Given the description of an element on the screen output the (x, y) to click on. 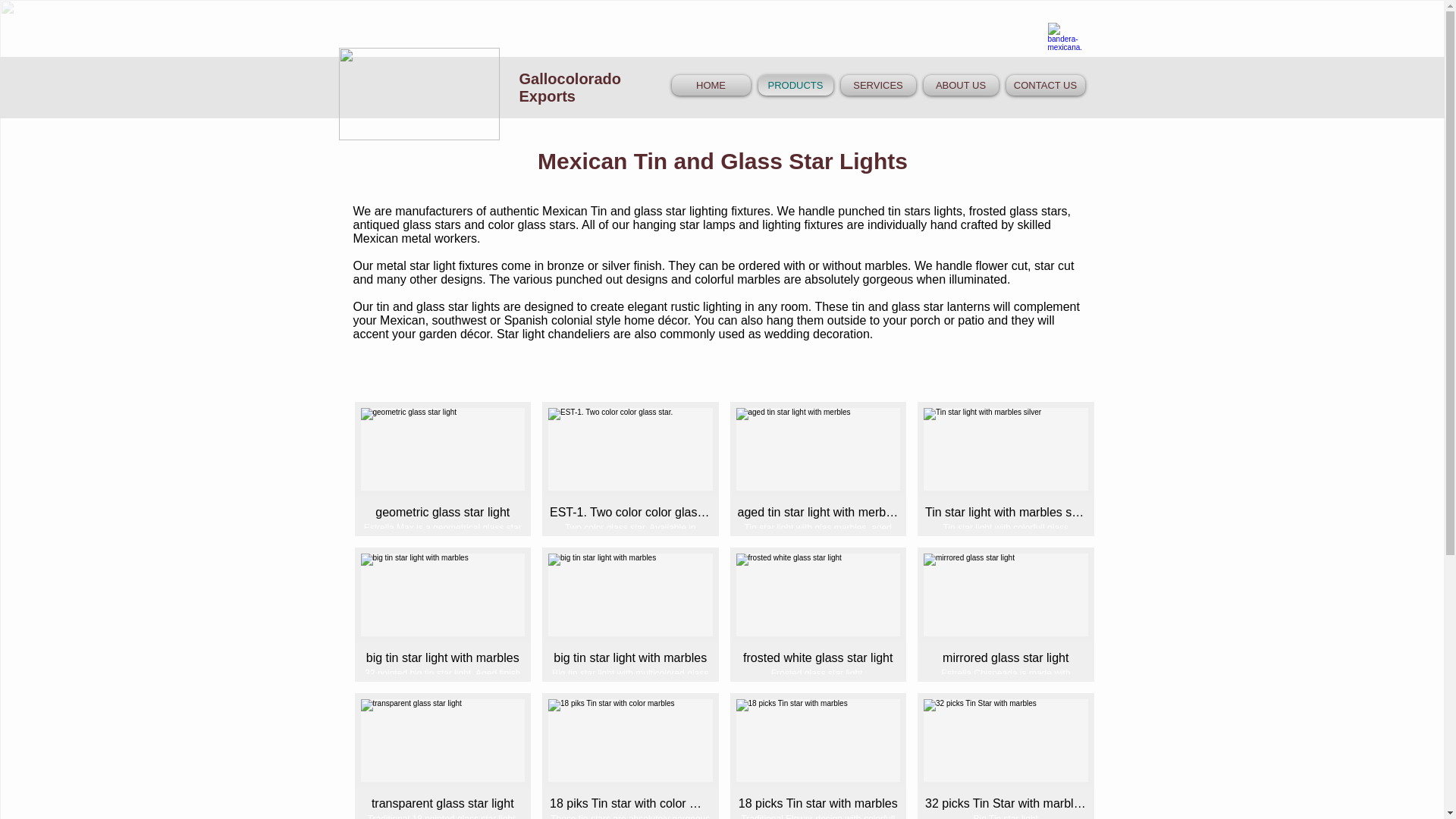
FILE3501.png (418, 93)
ABOUT US (959, 85)
PRODUCTS (794, 85)
HOME (712, 85)
SERVICES (878, 85)
CONTACT US (1043, 85)
